Given the description of an element on the screen output the (x, y) to click on. 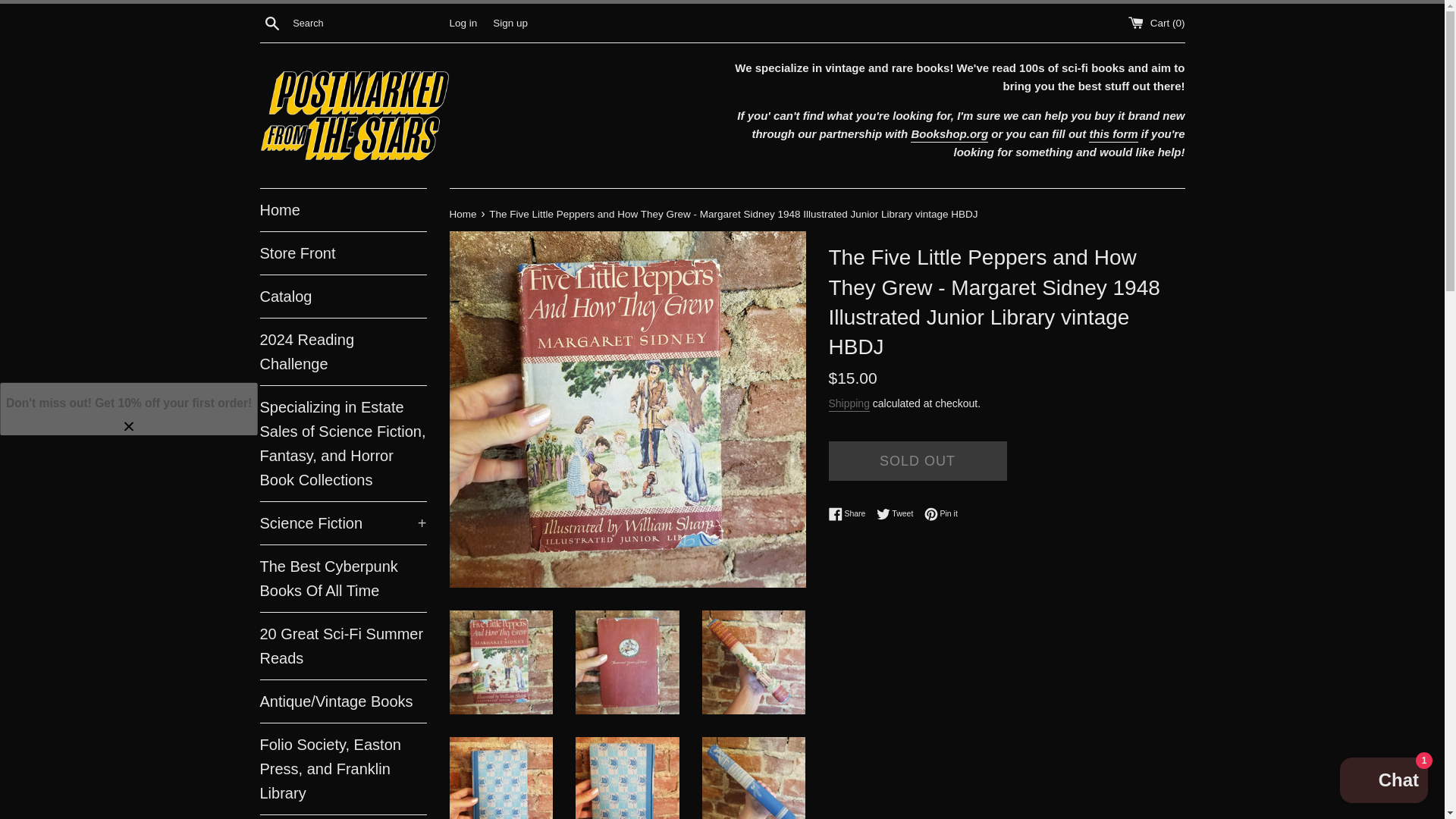
Home (342, 209)
Share on Facebook (850, 513)
Tweet on Twitter (898, 513)
Bookshop.org (949, 134)
Store Front (342, 252)
this form (1113, 134)
What We've Read This Year! (342, 816)
Folio Society, Easton Press, and Franklin Library (342, 768)
Back to the frontpage (463, 214)
Log in (462, 21)
Shopify online store chat (1383, 781)
Pin on Pinterest (941, 513)
The Best Cyberpunk Books Of All Time (342, 578)
Catalog (342, 296)
